Given the description of an element on the screen output the (x, y) to click on. 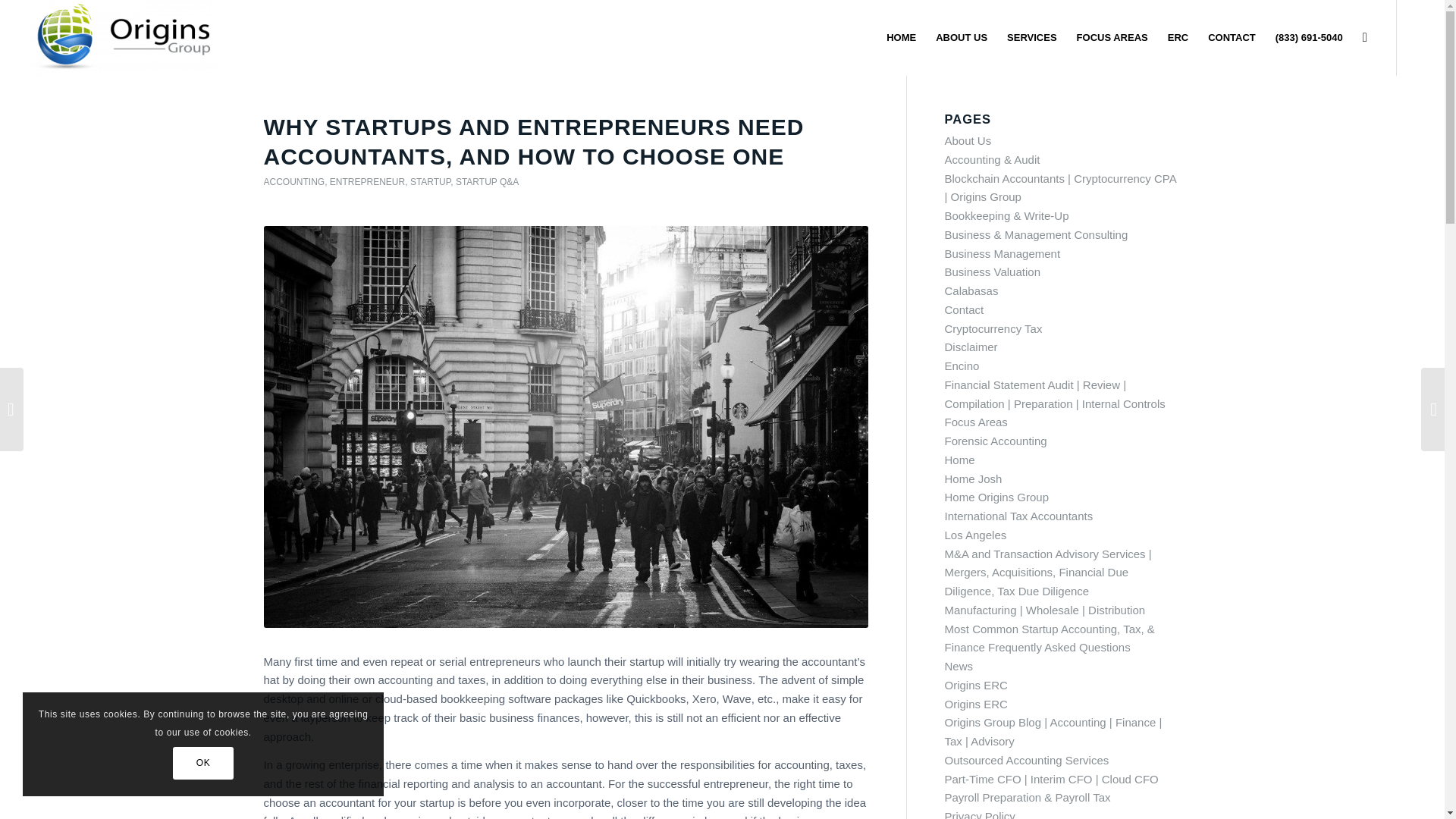
About Us (967, 140)
STARTUP (429, 181)
ENTREPRENEUR (367, 181)
Business Valuation (992, 271)
FOCUS AREAS (1112, 38)
Business Management (1002, 253)
ABOUT US (961, 38)
SERVICES (1032, 38)
ACCOUNTING (293, 181)
CONTACT (1231, 38)
Calabasas (971, 290)
Contact (964, 309)
Cryptocurrency Tax (993, 328)
